Given the description of an element on the screen output the (x, y) to click on. 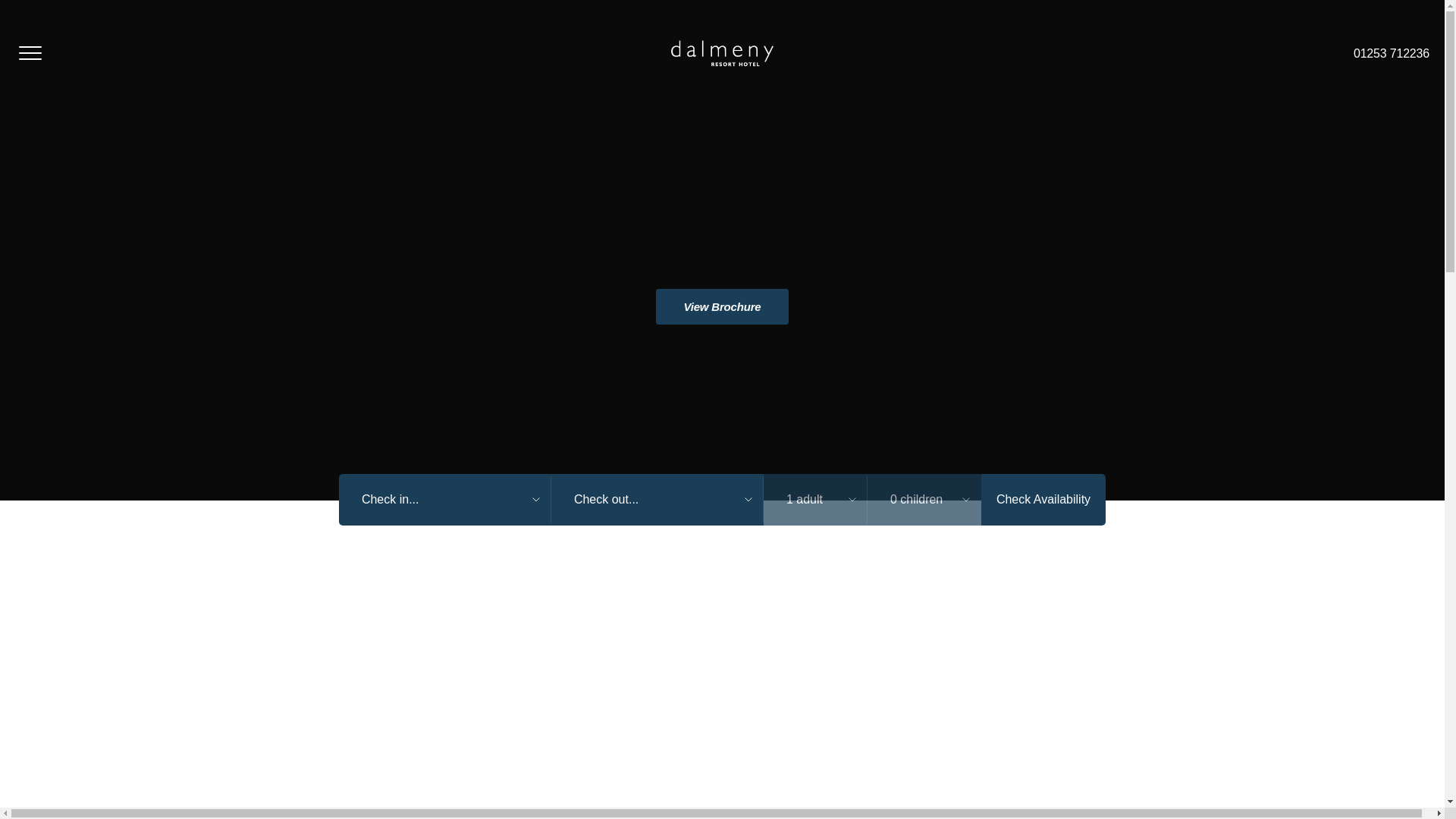
01253 712236 (1391, 52)
Check Availability (1043, 499)
View Brochure (721, 306)
